Given the description of an element on the screen output the (x, y) to click on. 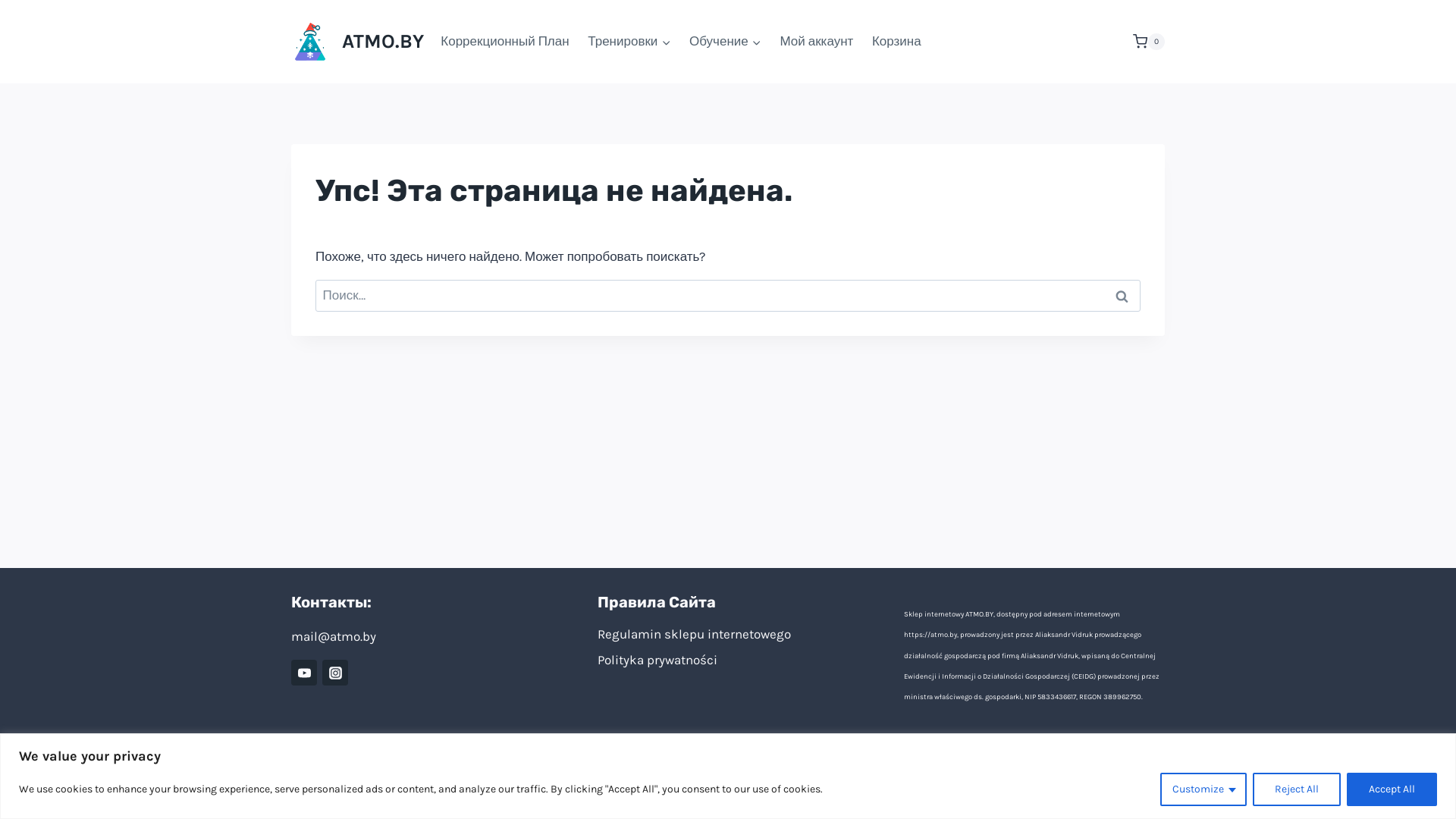
0 Element type: text (1148, 41)
Customize Element type: text (1203, 788)
Reject All Element type: text (1296, 788)
ATMO.BY Element type: text (357, 41)
Regulamin sklepu internetowego Element type: text (727, 633)
Accept All Element type: text (1391, 788)
